Given the description of an element on the screen output the (x, y) to click on. 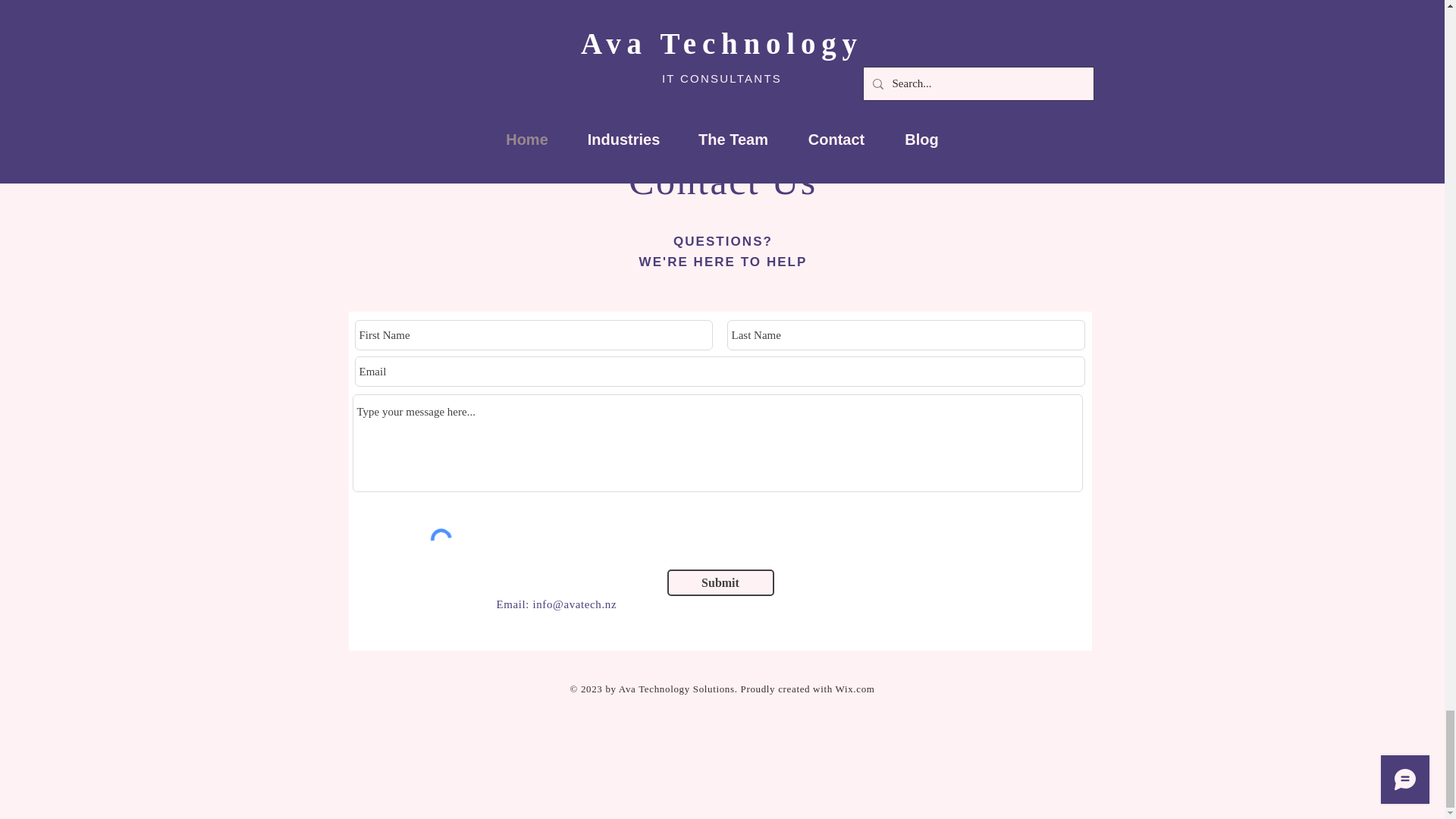
Gold-Service partner.png (999, 69)
Wix.com (855, 688)
Submit (720, 582)
